Given the description of an element on the screen output the (x, y) to click on. 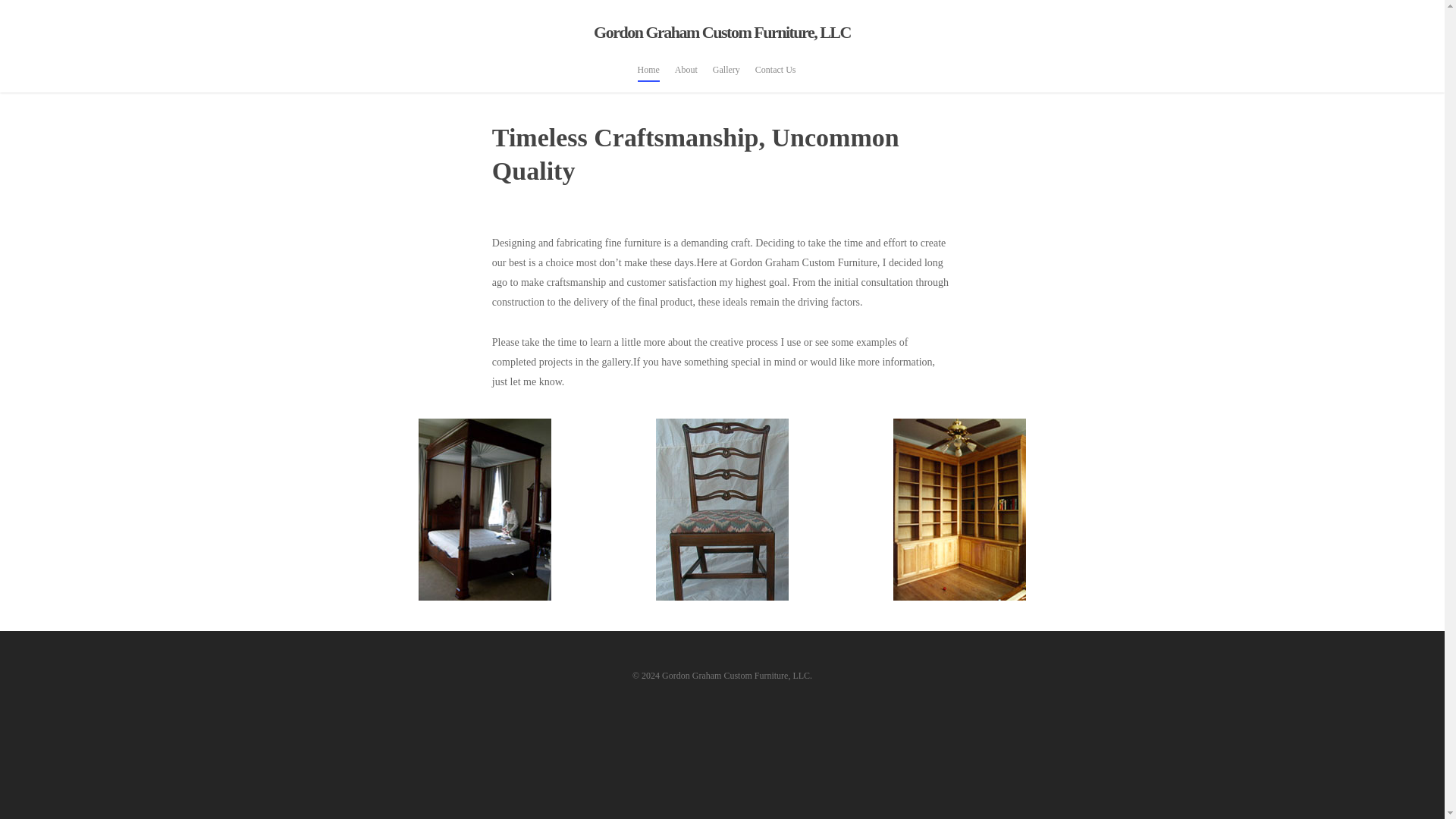
Gallery (726, 77)
Contact Us (775, 77)
Gordon Graham Custom Furniture, LLC (721, 32)
